Given the description of an element on the screen output the (x, y) to click on. 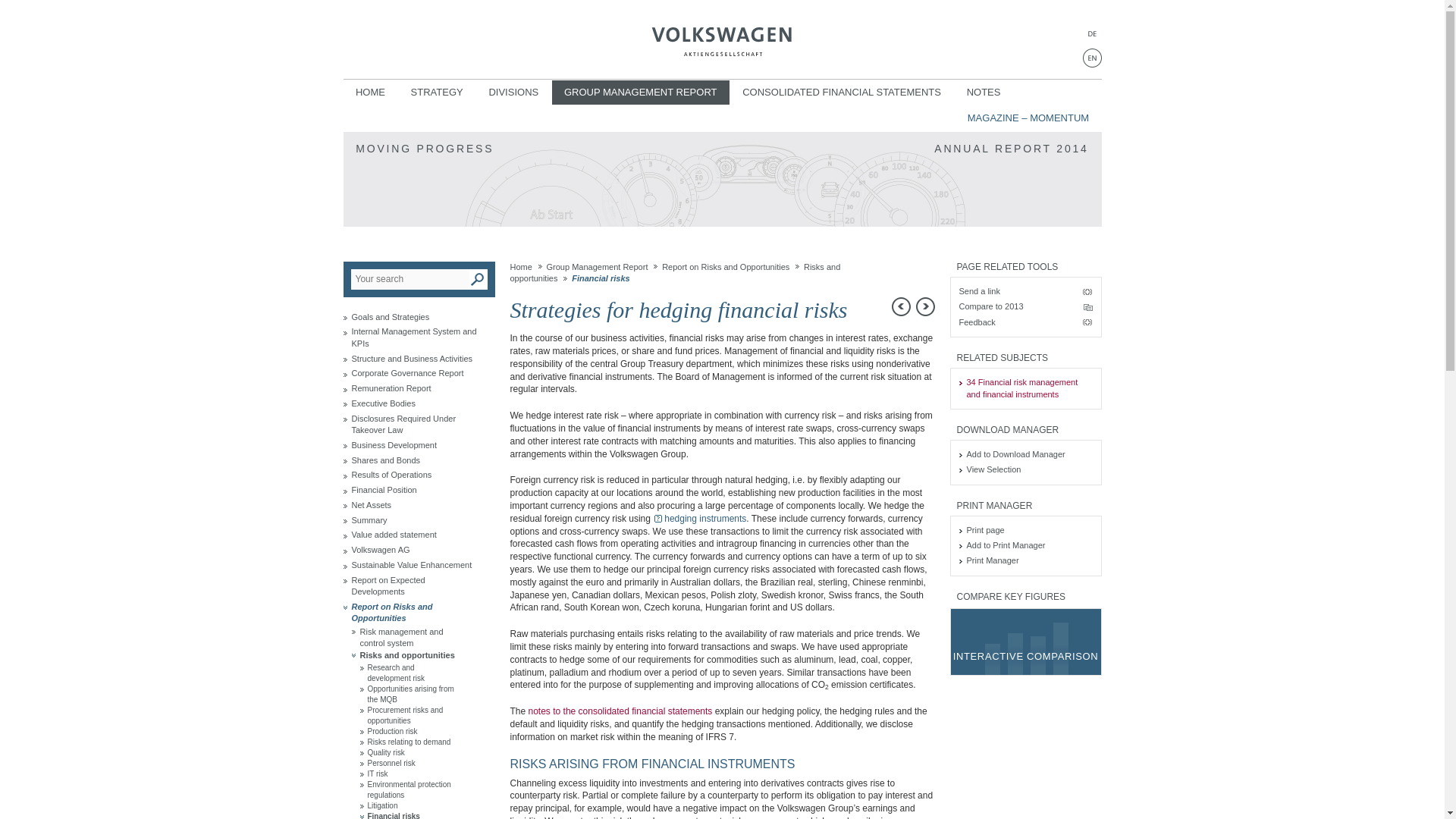
opens in new window (1025, 306)
opens in new window (721, 33)
Deutsch (1092, 33)
Search (477, 279)
GROUP MANAGEMENT REPORT (640, 92)
Your search (409, 279)
DE (1092, 33)
HOME (369, 92)
DIVISIONS (513, 92)
previous page: Litigation (901, 306)
STRATEGY (436, 92)
next page: Other factors (924, 306)
Volkswagen AG (721, 33)
